Given the description of an element on the screen output the (x, y) to click on. 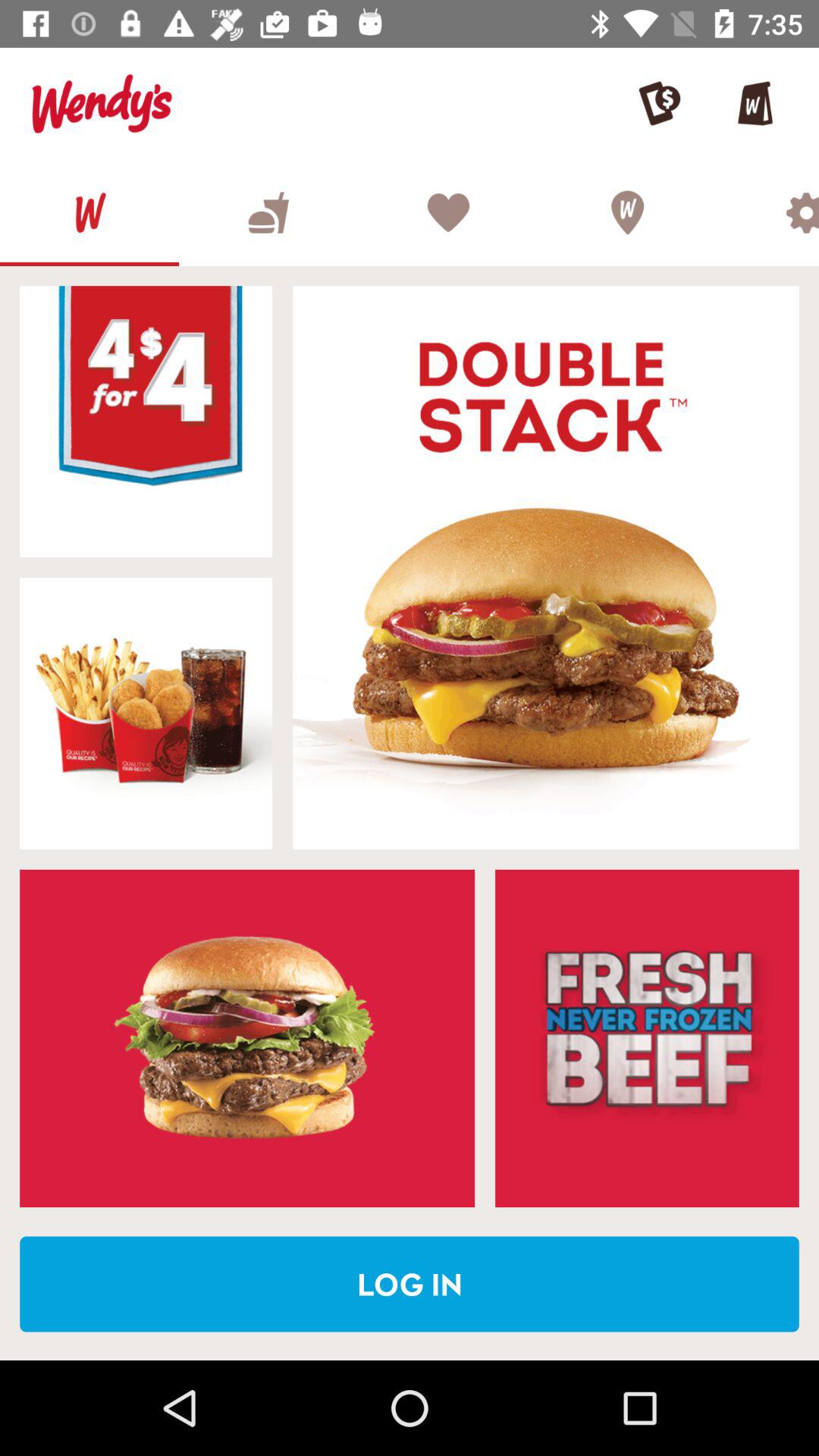
settings (767, 212)
